Given the description of an element on the screen output the (x, y) to click on. 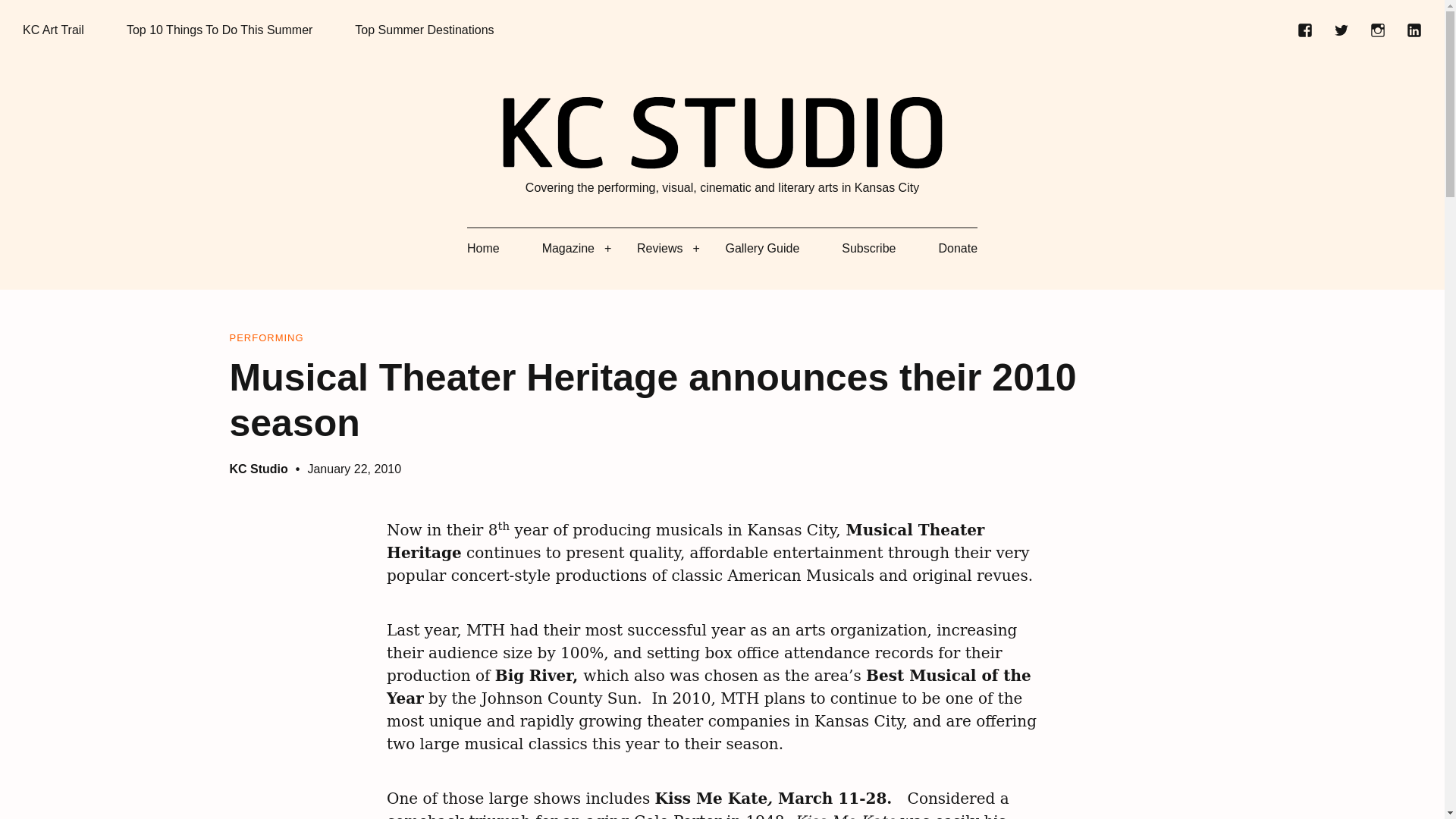
KC Art Trail (53, 29)
LinkedIn (1414, 29)
Instagram (1378, 29)
PERFORMING (265, 337)
Magazine (567, 248)
Home (483, 248)
KC Studio (257, 468)
Twitter (1341, 29)
Gallery Guide (762, 248)
January 22, 2010 (354, 468)
Top Summer Destinations (424, 29)
Subscribe (868, 248)
Facebook (1305, 29)
Top 10 Things To Do This Summer (219, 29)
Performing (265, 337)
